Given the description of an element on the screen output the (x, y) to click on. 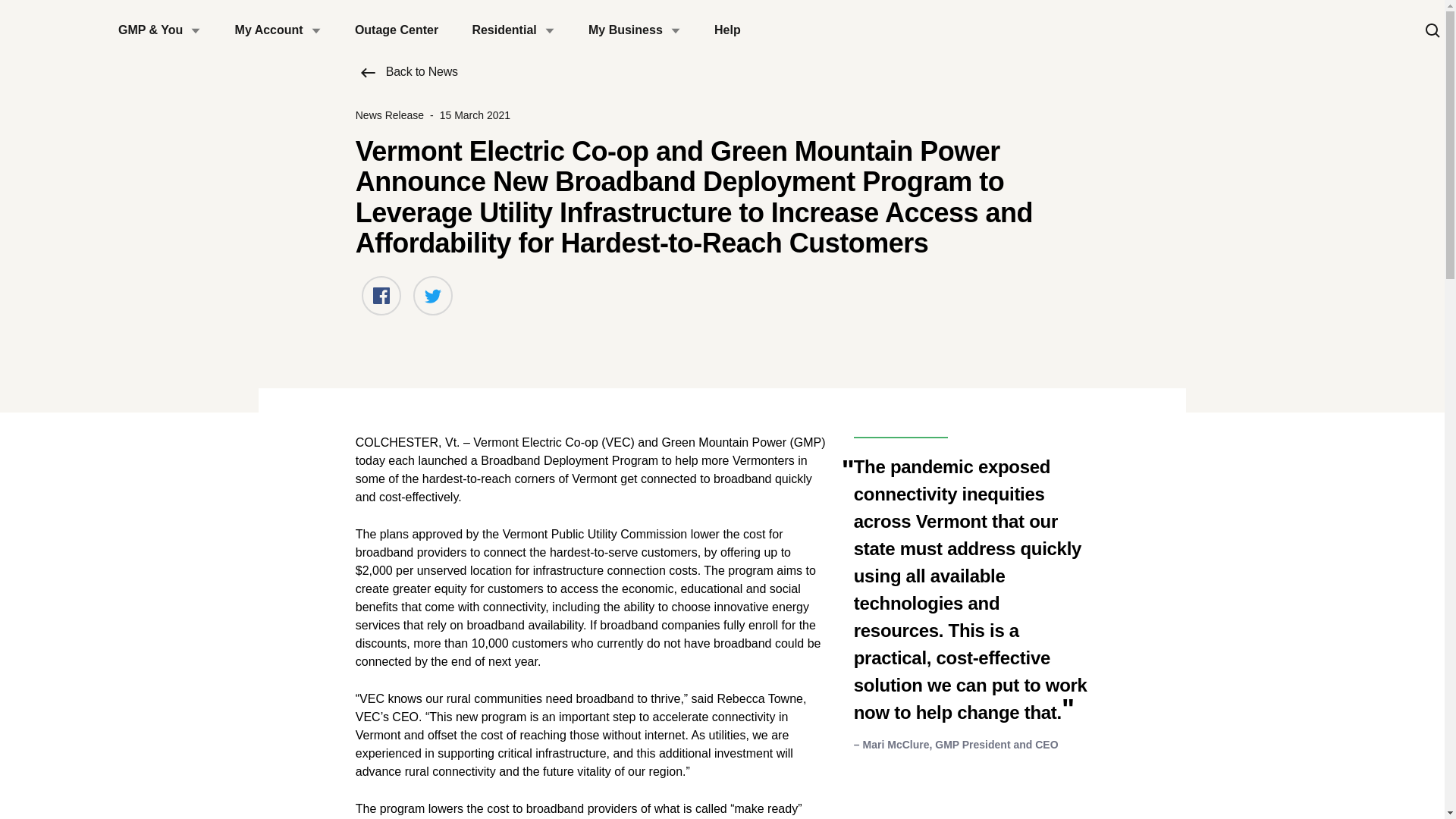
Residential (513, 30)
My Business (634, 30)
My Account (277, 30)
My Account (277, 30)
Help (726, 30)
Outage Center (395, 30)
